Given the description of an element on the screen output the (x, y) to click on. 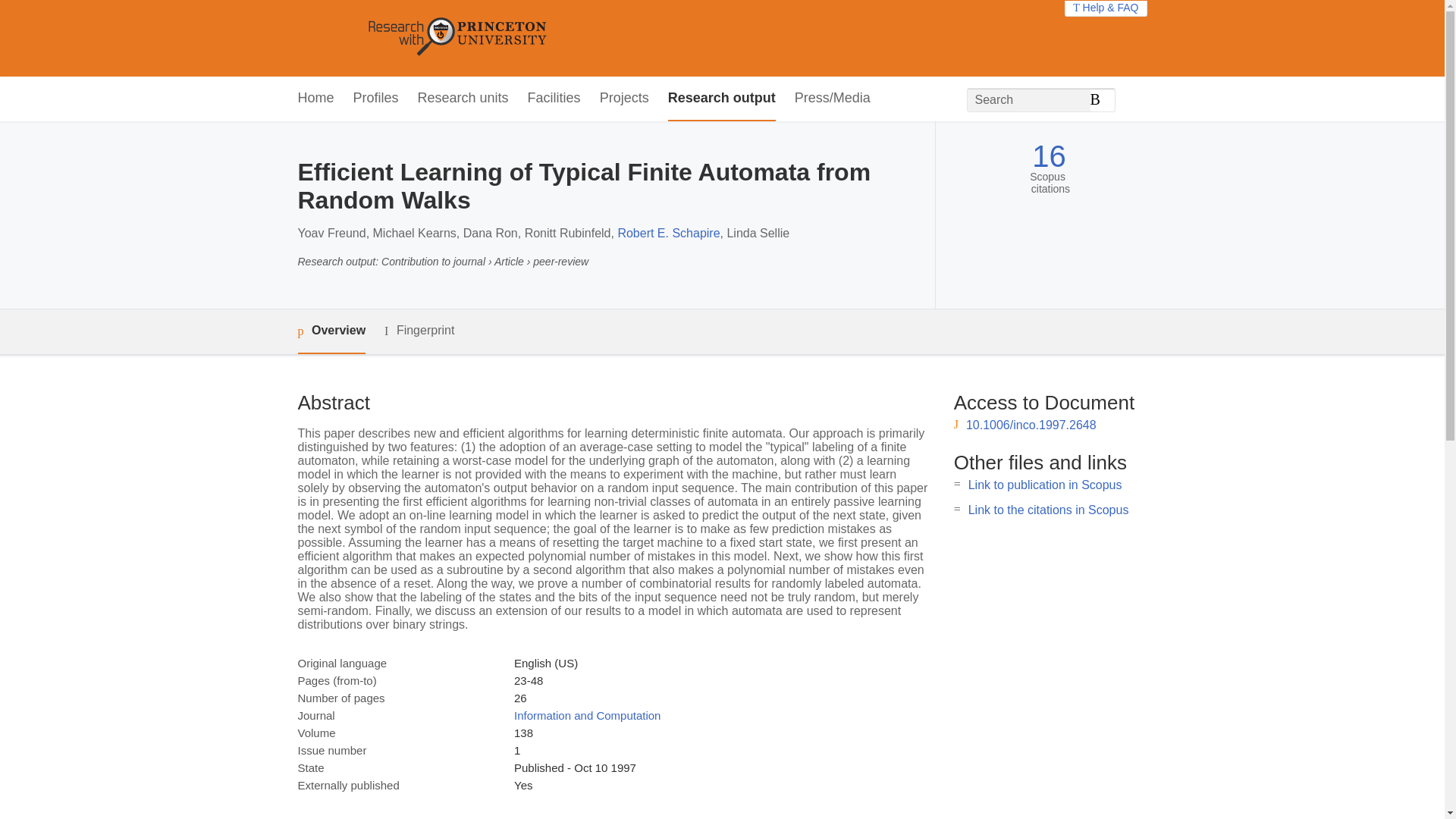
Link to the citations in Scopus (1048, 509)
Facilities (553, 98)
Profiles (375, 98)
Overview (331, 331)
Fingerprint (419, 330)
16 (1048, 156)
Link to publication in Scopus (1045, 484)
Research output (722, 98)
Research units (462, 98)
Information and Computation (587, 715)
